Given the description of an element on the screen output the (x, y) to click on. 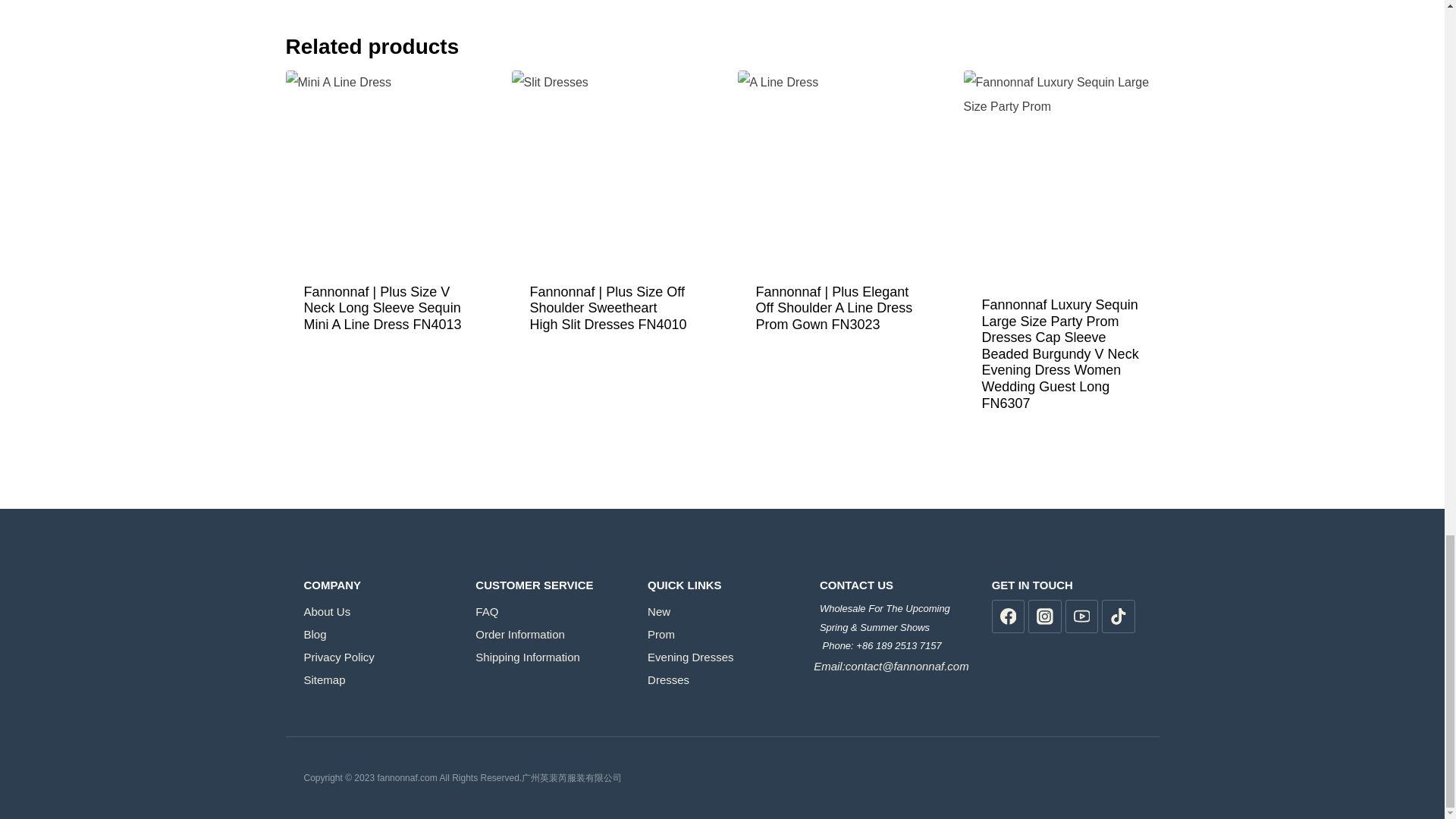
Shift-click to edit this element. (894, 627)
000919ca29365f187afd85027962f186.jpg (608, 168)
bb199085f8d2fec27e82a0d00fc89d83.jpg (834, 168)
b2800cce53008401d94efbf70d46f5a7.jpg (382, 168)
